Given the description of an element on the screen output the (x, y) to click on. 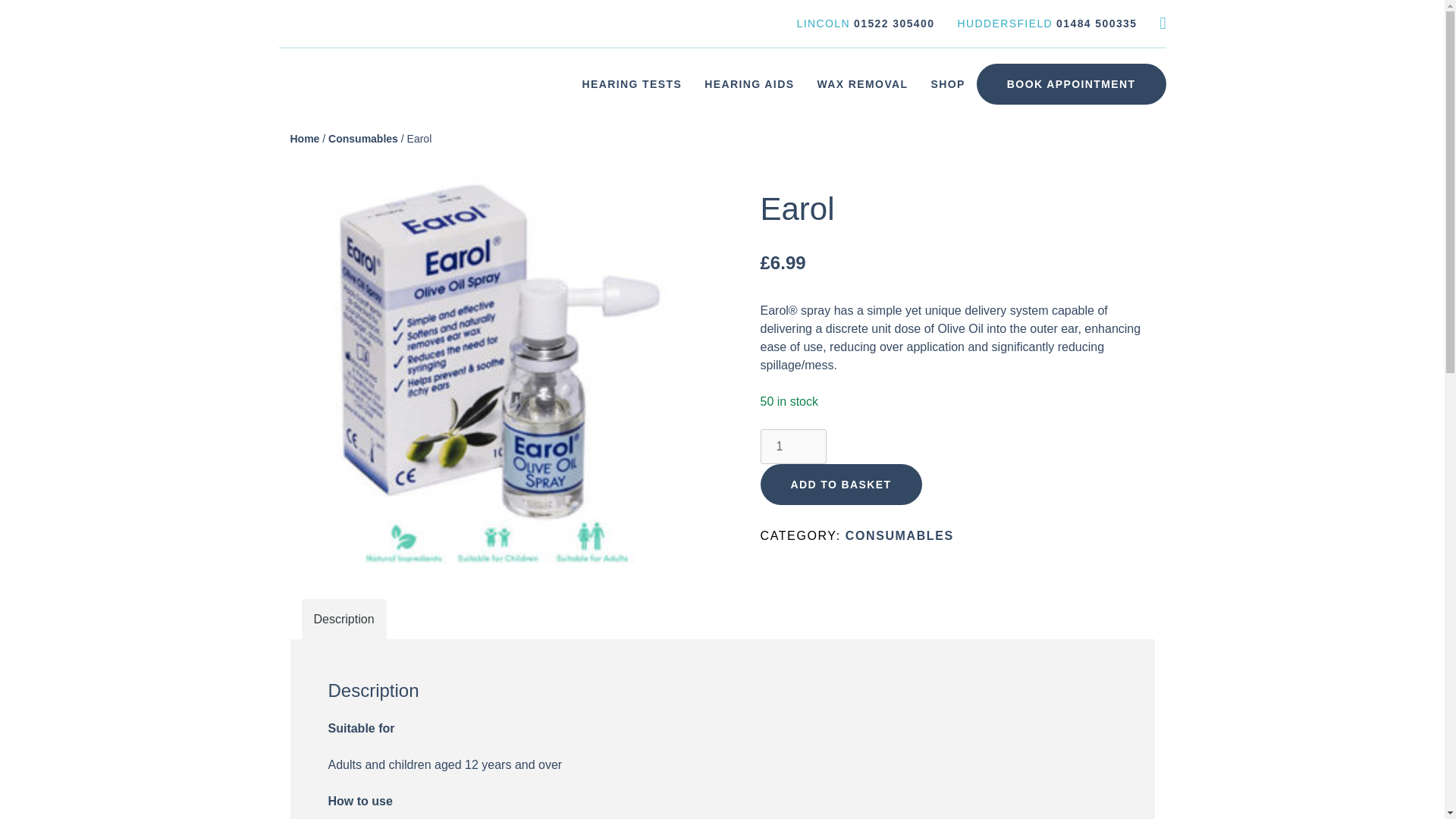
LINCOLN (823, 23)
Description (344, 618)
CONSUMABLES (899, 535)
01522 305400 (893, 23)
Otec Hearing (314, 114)
HEARING AIDS (749, 84)
01484 500335 (1097, 23)
HEARING TESTS (631, 84)
ADD TO BASKET (840, 484)
Consumables (363, 138)
